Given the description of an element on the screen output the (x, y) to click on. 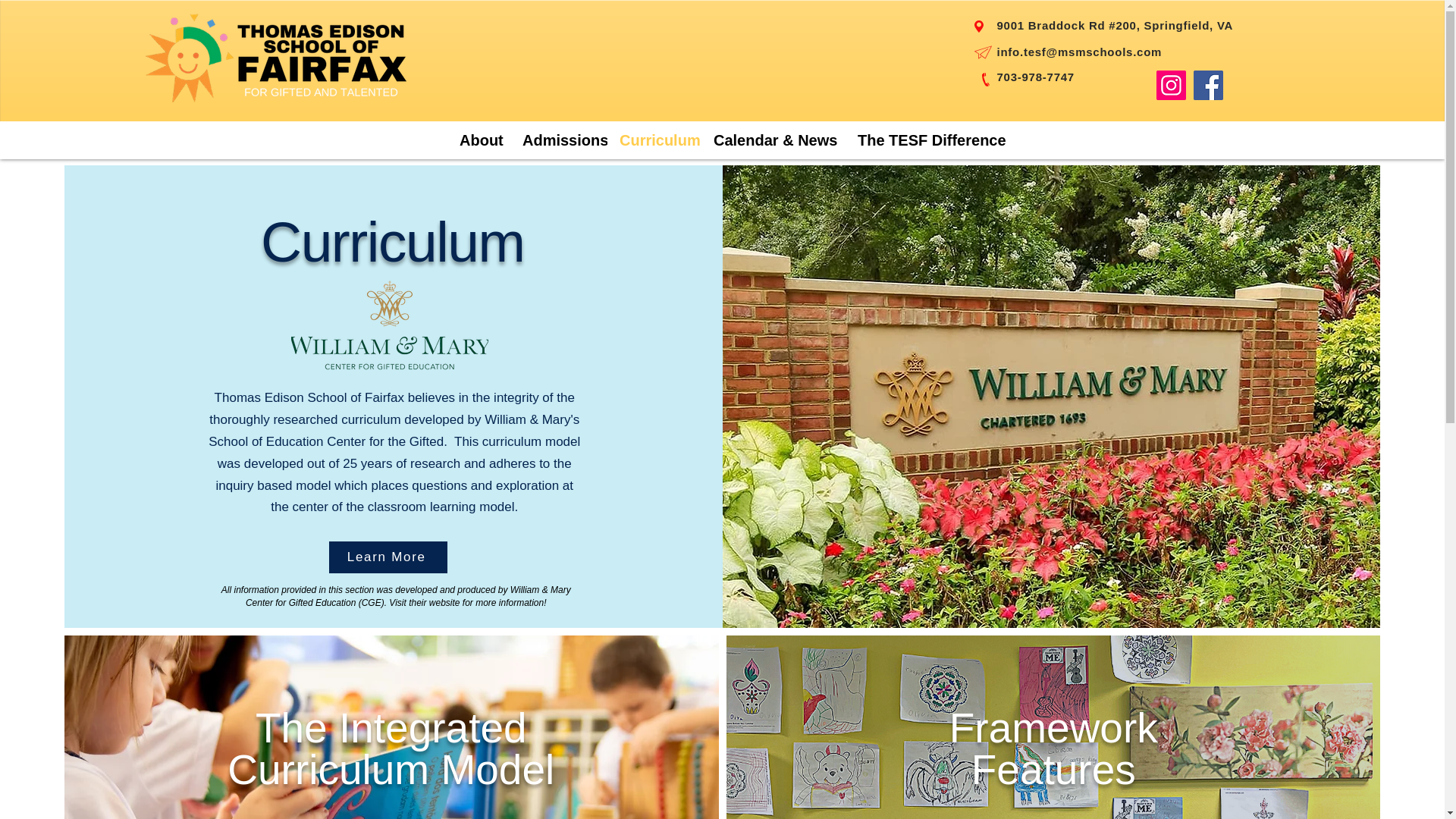
The TESF Difference (921, 139)
703-978-7747 (1034, 76)
Learn More (387, 557)
Curriculum (654, 139)
About (478, 139)
Admissions (559, 139)
